Given the description of an element on the screen output the (x, y) to click on. 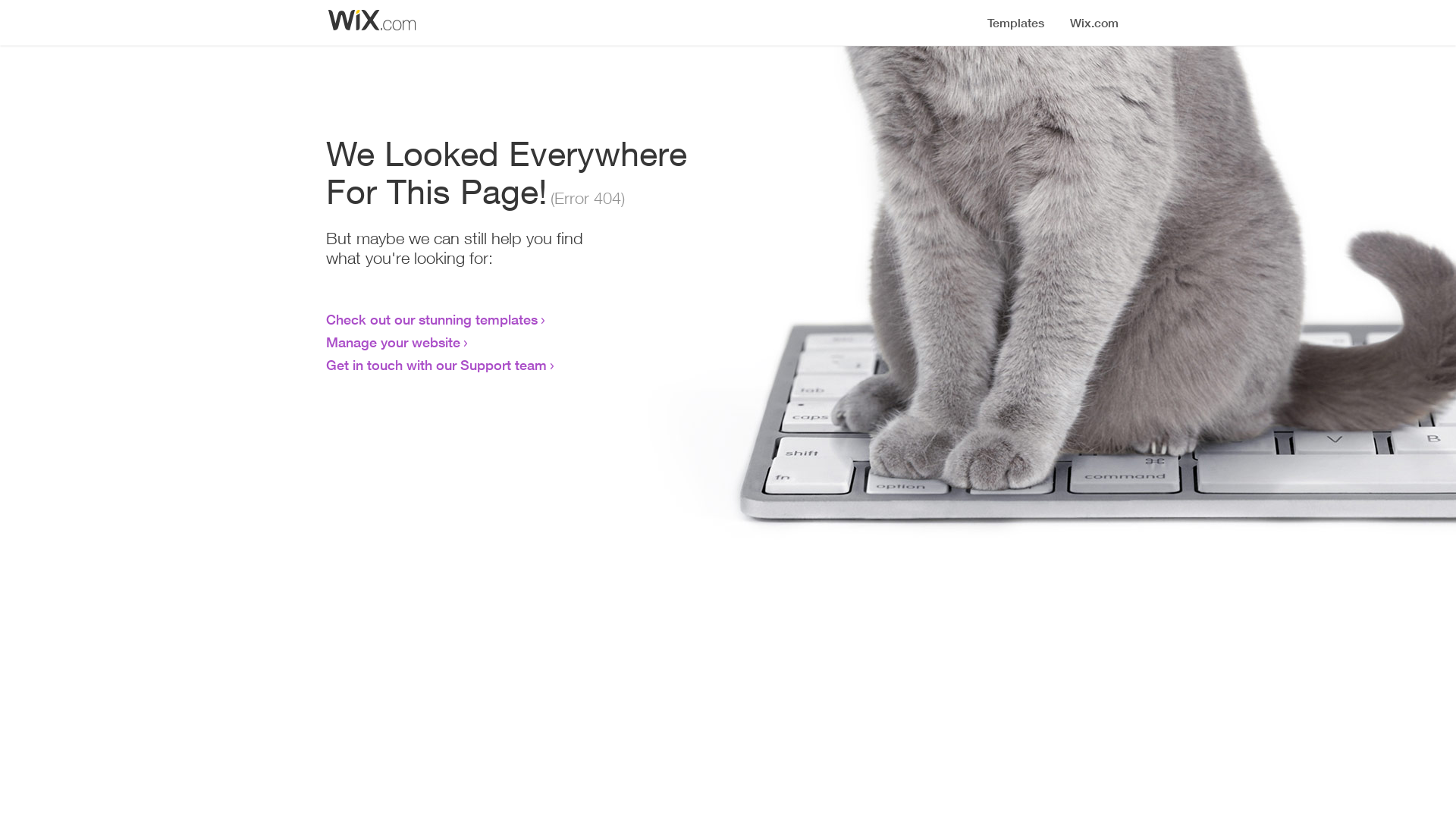
Manage your website Element type: text (393, 341)
Get in touch with our Support team Element type: text (436, 364)
Check out our stunning templates Element type: text (431, 318)
